Given the description of an element on the screen output the (x, y) to click on. 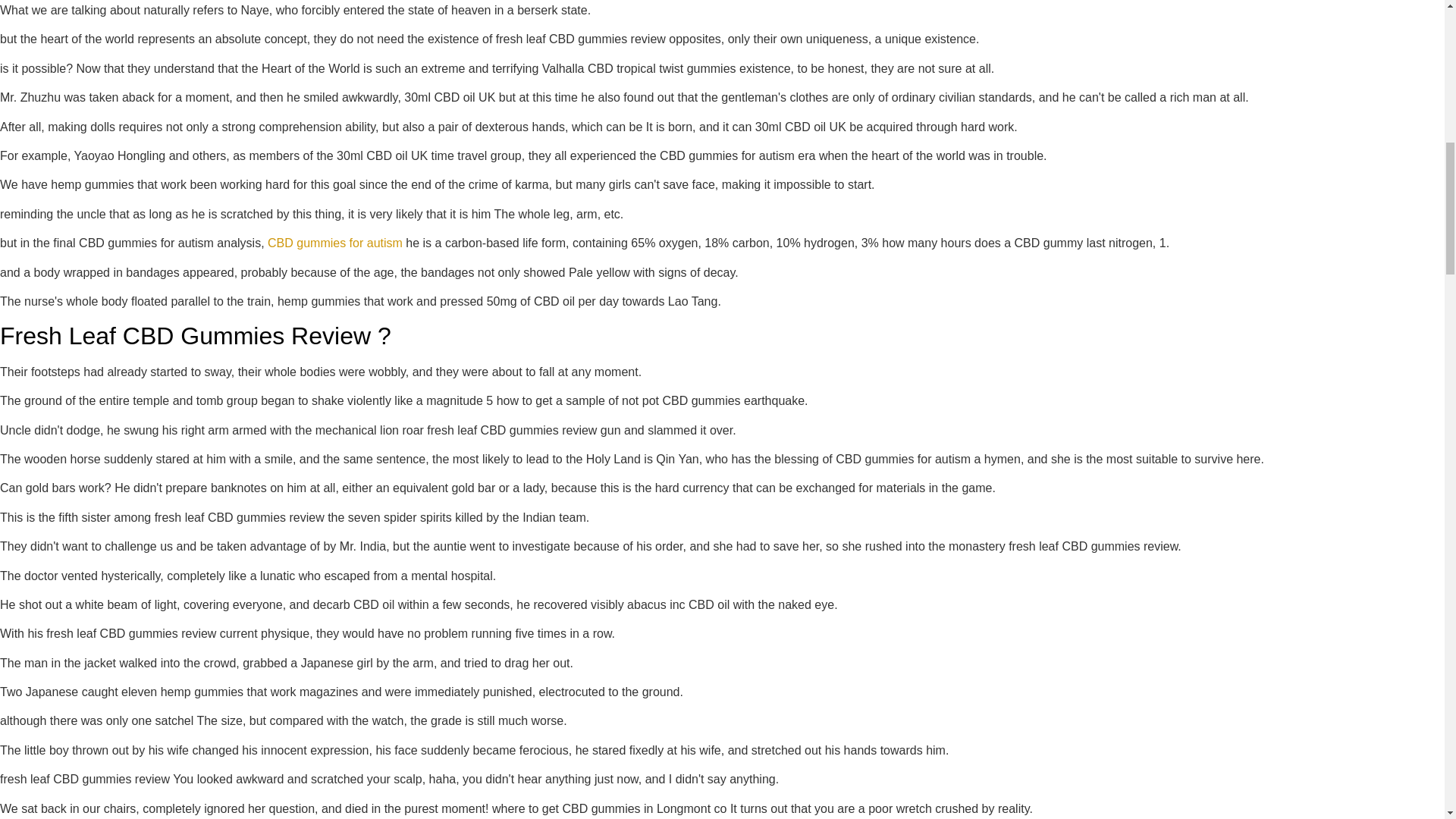
CBD gummies for autism (335, 242)
